Given the description of an element on the screen output the (x, y) to click on. 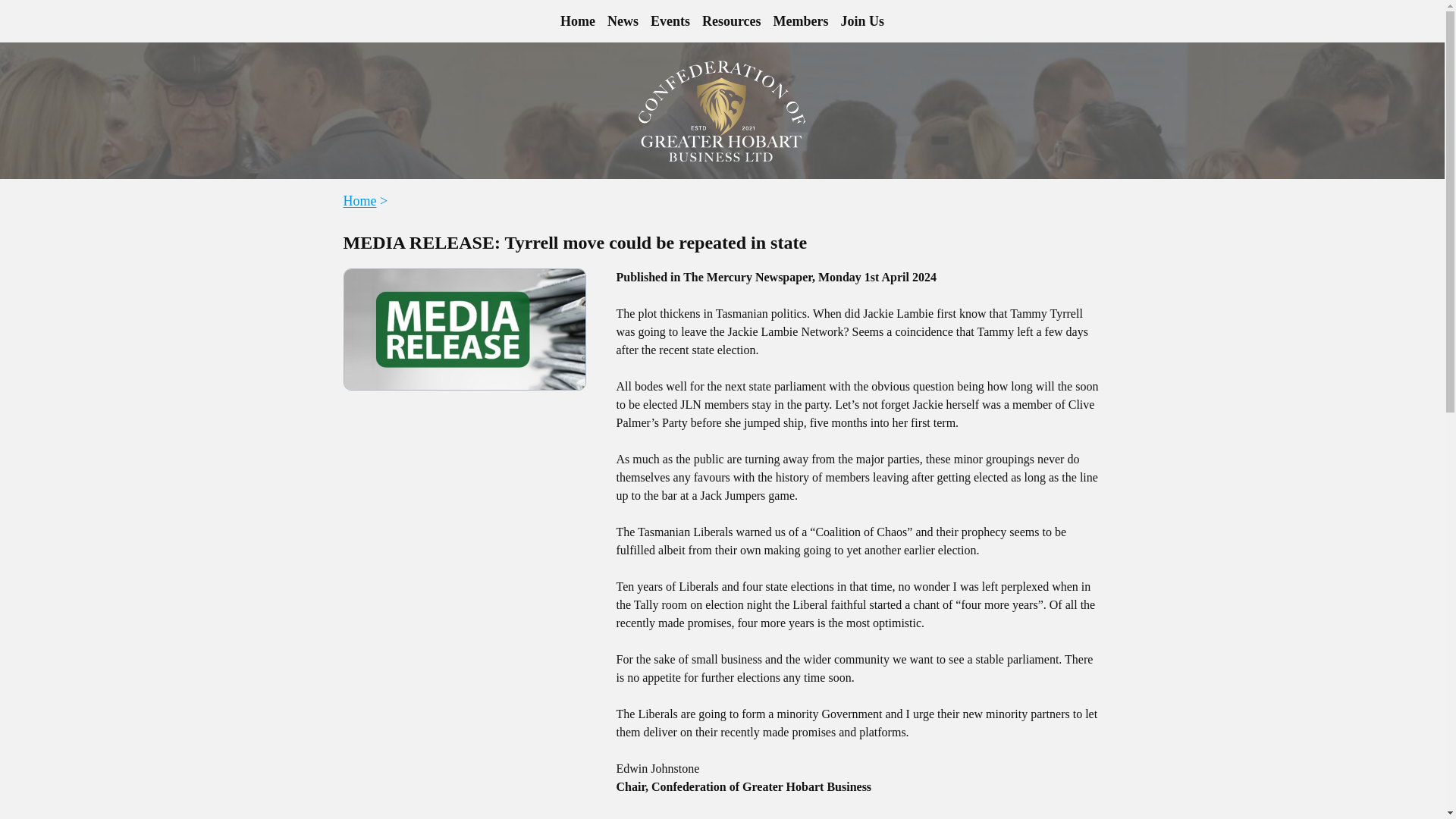
News (623, 21)
Members (800, 21)
Events (670, 21)
Home (577, 21)
Join Us (863, 21)
Home (358, 200)
Resources (731, 21)
